Given the description of an element on the screen output the (x, y) to click on. 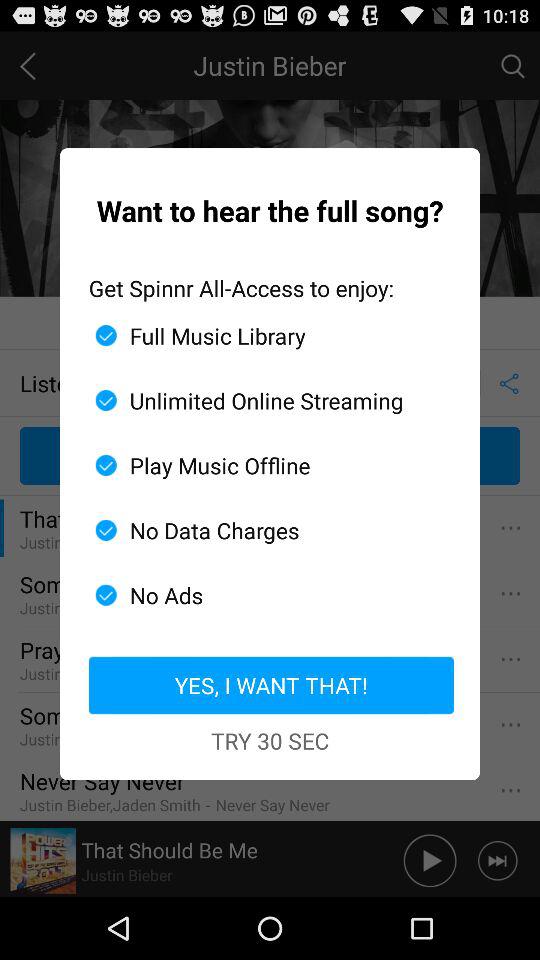
jump until unlimited online streaming icon (261, 400)
